Given the description of an element on the screen output the (x, y) to click on. 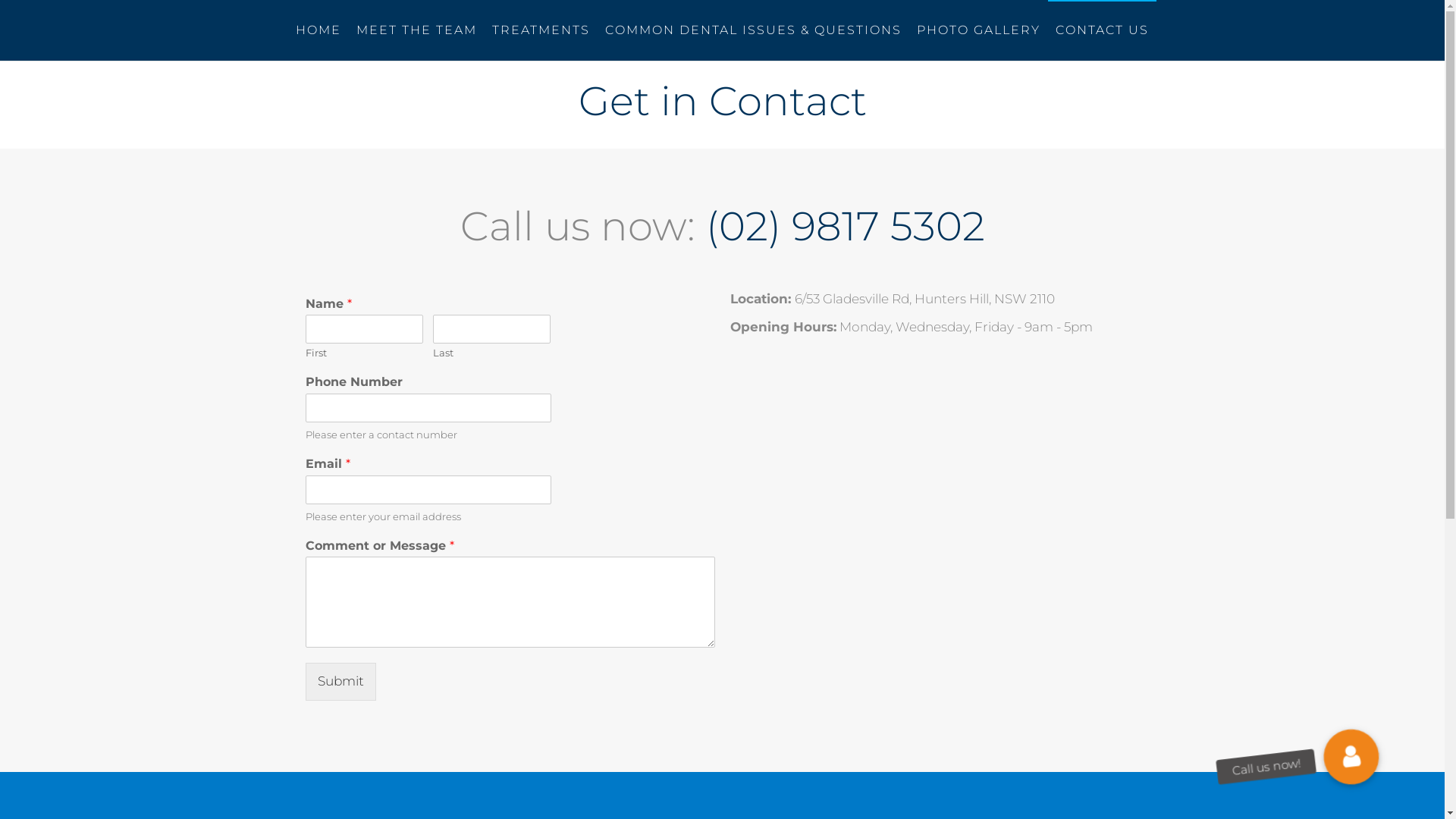
COMMON DENTAL ISSUES & QUESTIONS Element type: text (753, 30)
Call us now! Element type: text (1346, 752)
PHOTO GALLERY Element type: text (978, 30)
Submit Element type: text (339, 680)
HOME Element type: text (318, 30)
TREATMENTS Element type: text (540, 30)
MEET THE TEAM Element type: text (416, 30)
CONTACT US Element type: text (1102, 30)
